Given the description of an element on the screen output the (x, y) to click on. 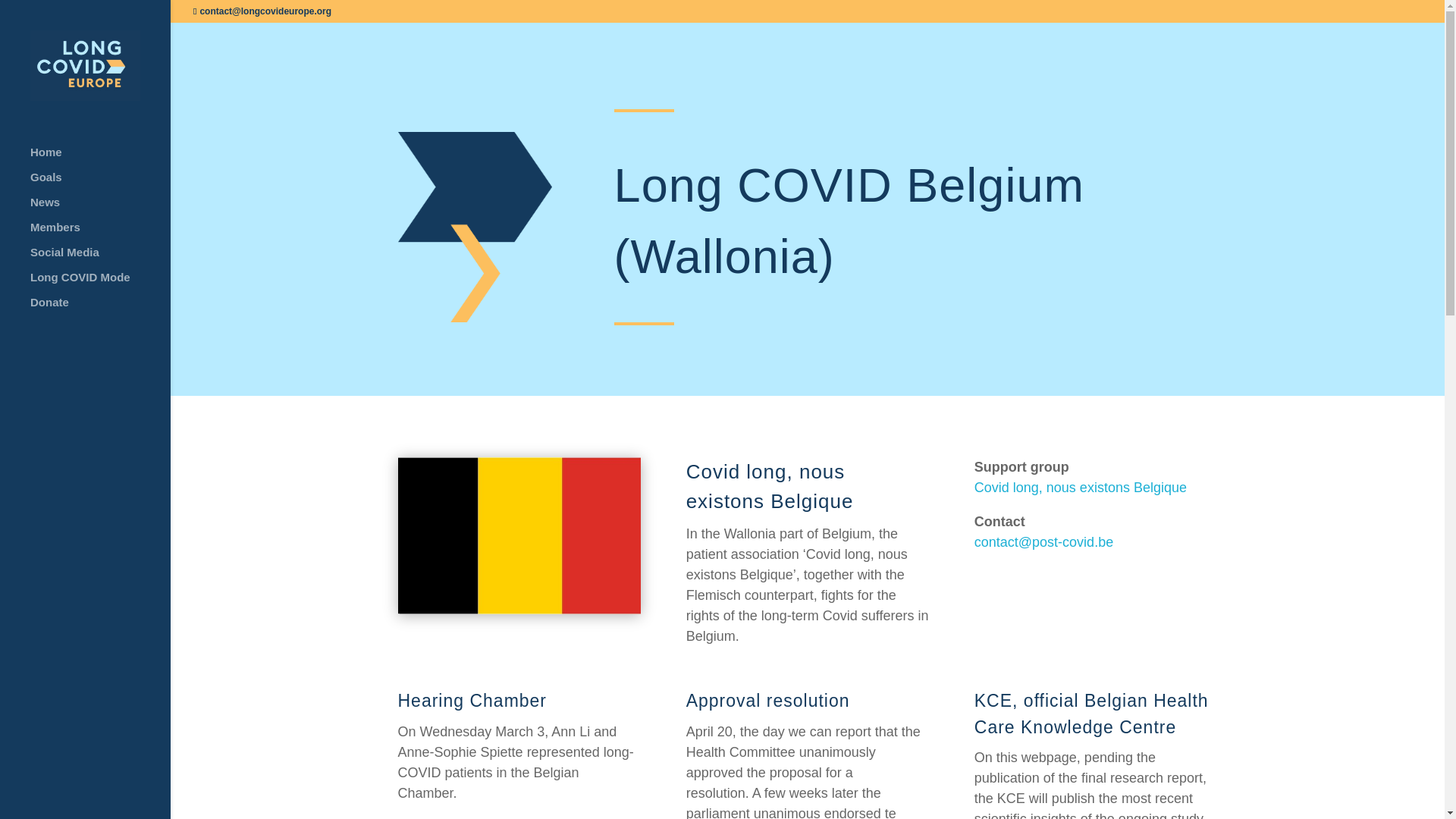
Covid long, nous existons Belgique (1080, 487)
News (100, 209)
Long COVID Mode (100, 284)
Social Media (100, 259)
Members (100, 234)
Flag Belgium (518, 535)
Goals (100, 184)
Home (100, 159)
Donate (100, 309)
